Given the description of an element on the screen output the (x, y) to click on. 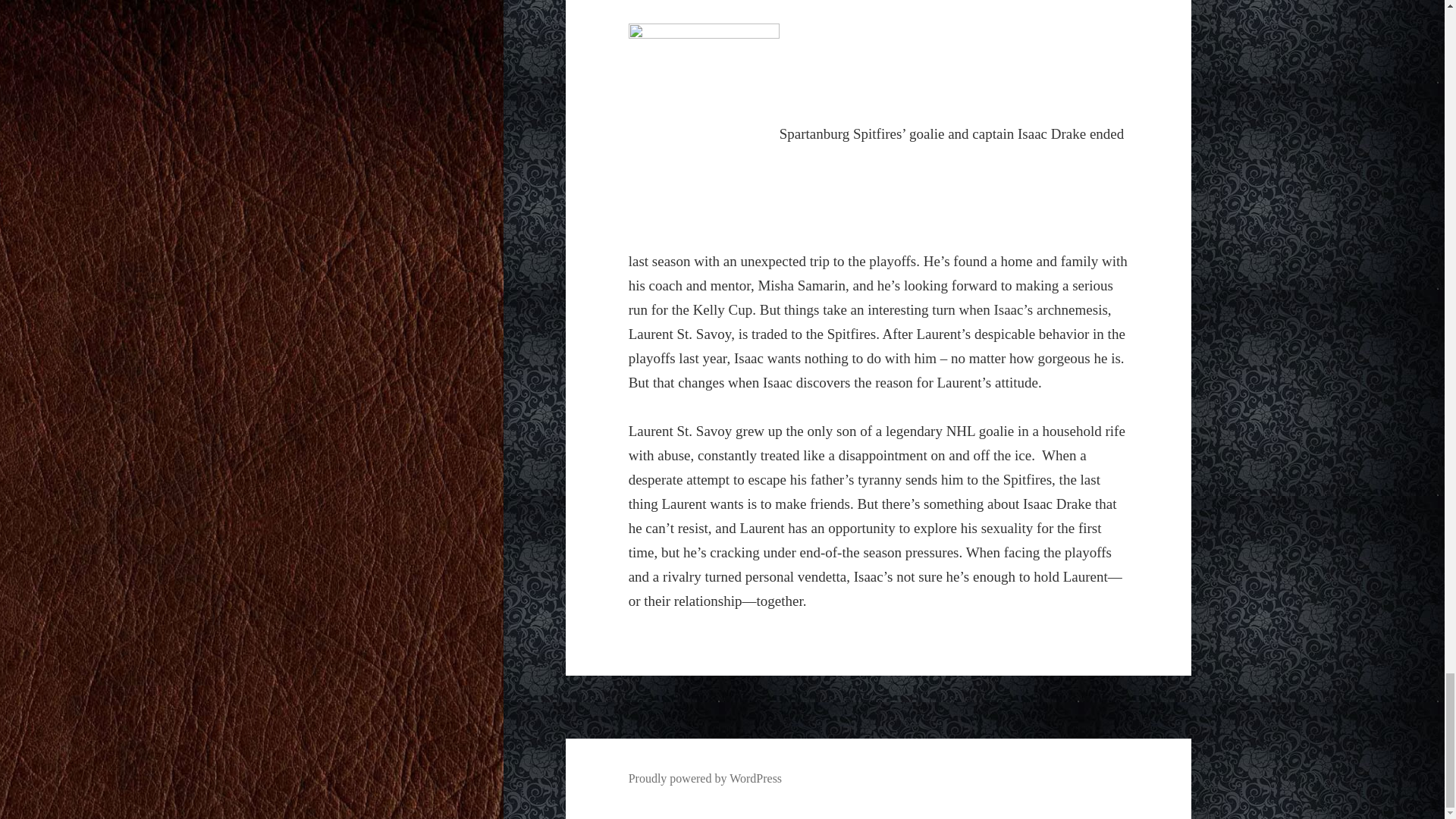
Proudly powered by WordPress (704, 778)
